Given the description of an element on the screen output the (x, y) to click on. 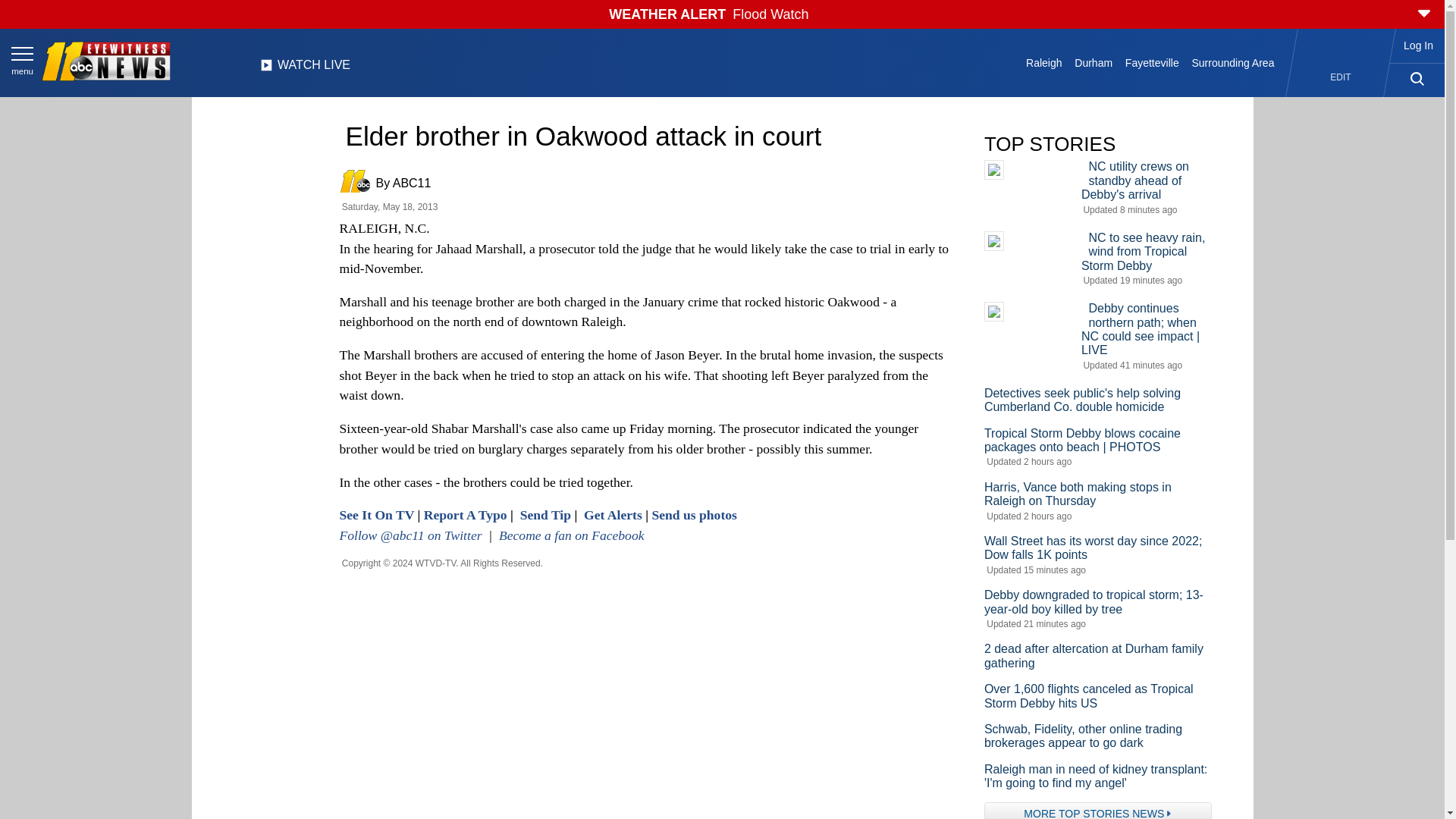
Surrounding Area (1233, 62)
Durham (1093, 62)
EDIT (1340, 77)
WATCH LIVE (305, 69)
Raleigh (1044, 62)
Fayetteville (1151, 62)
